Given the description of an element on the screen output the (x, y) to click on. 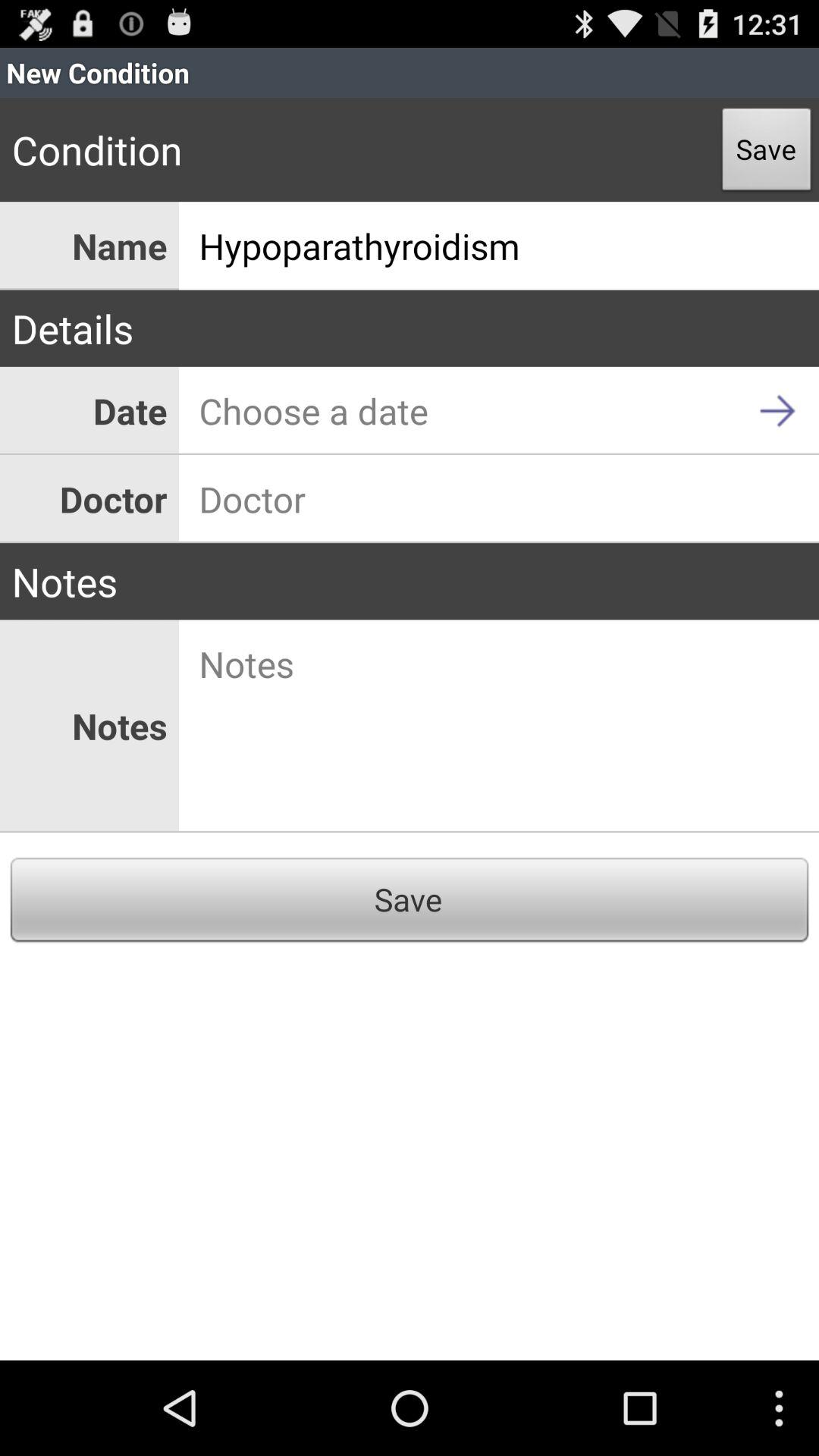
doctor (499, 499)
